Given the description of an element on the screen output the (x, y) to click on. 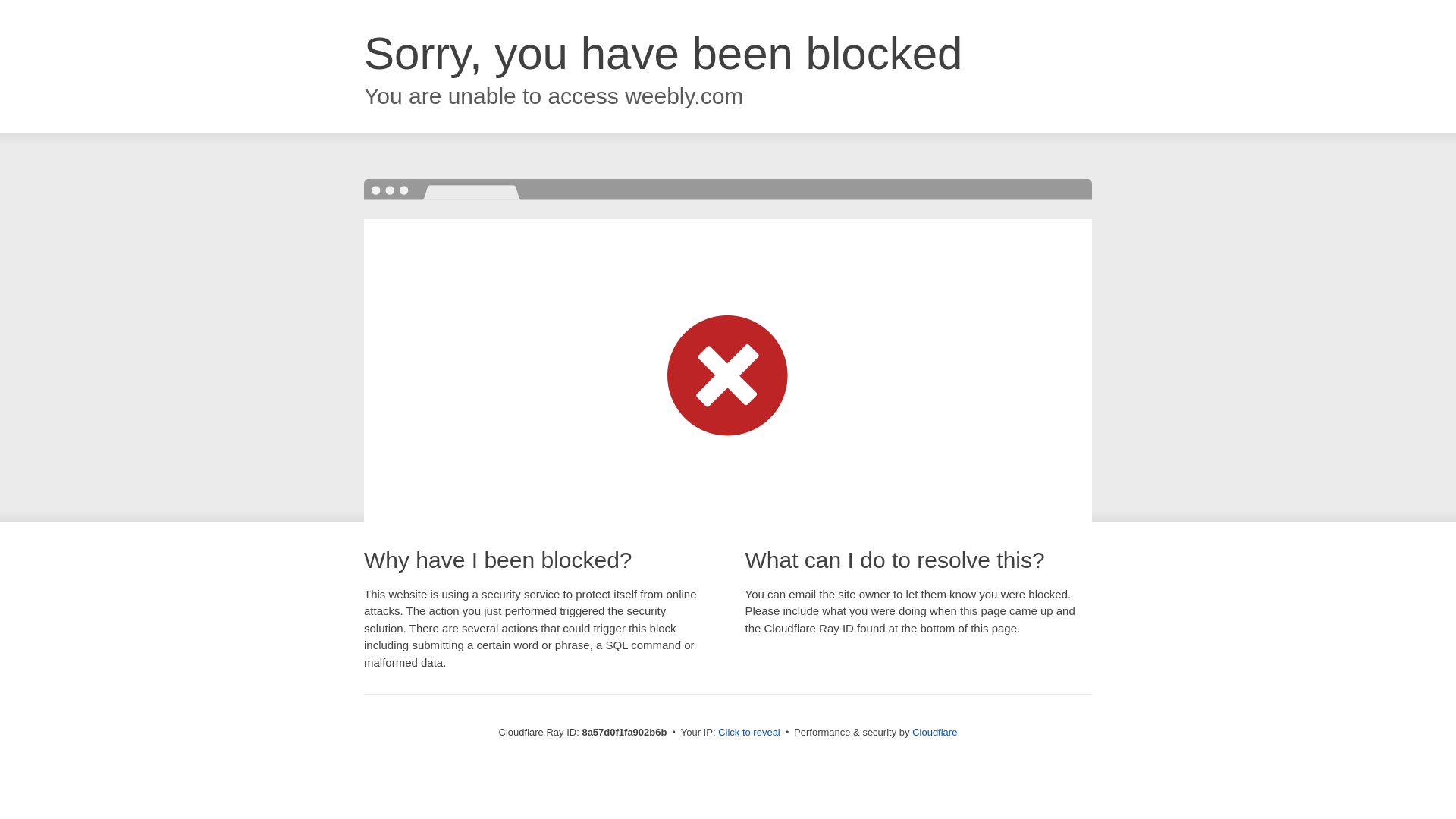
Cloudflare (934, 731)
Click to reveal (748, 732)
